Given the description of an element on the screen output the (x, y) to click on. 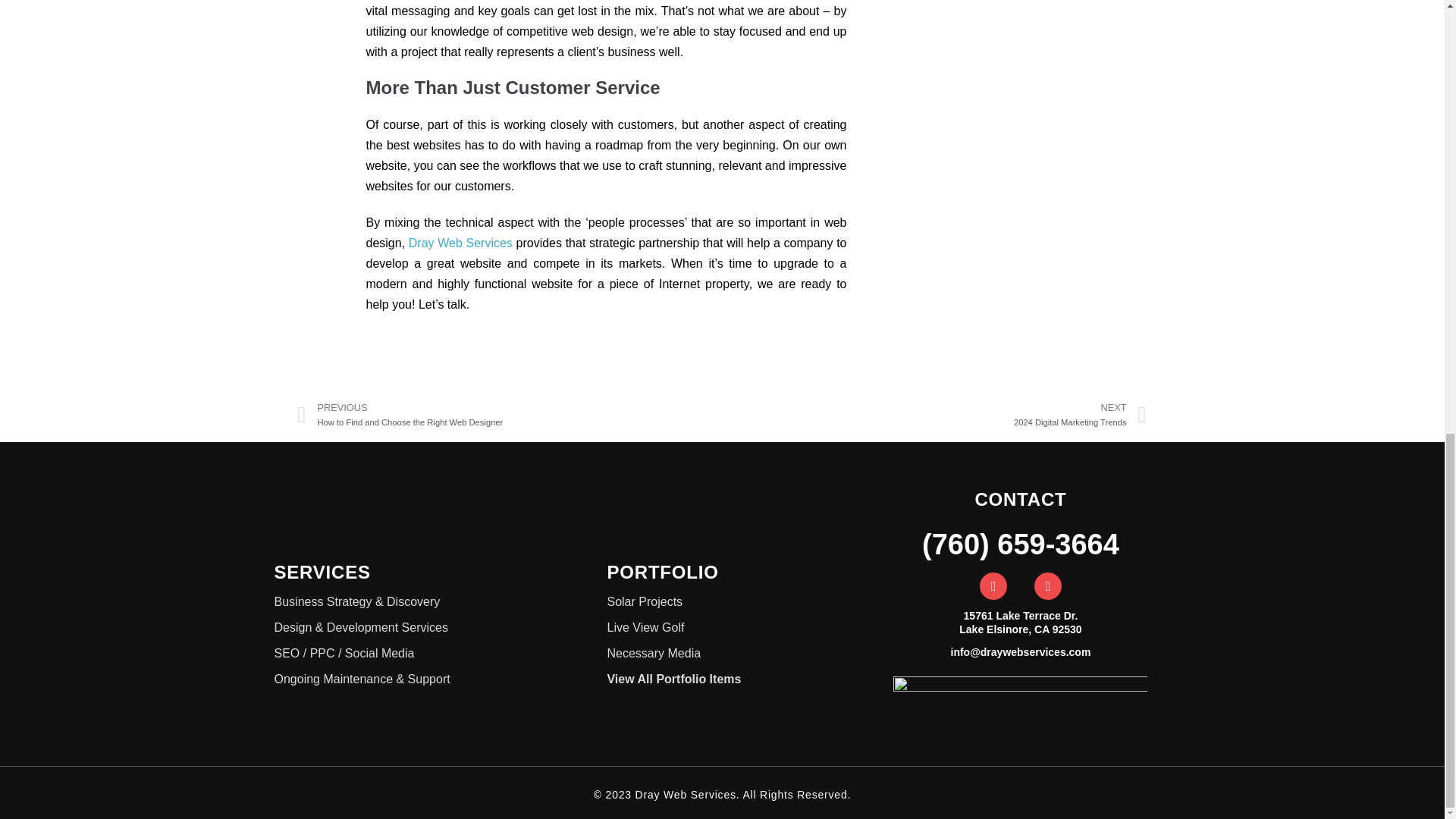
Live View Golf (740, 627)
Dray Web Services (934, 414)
Solar Projects (460, 242)
